Given the description of an element on the screen output the (x, y) to click on. 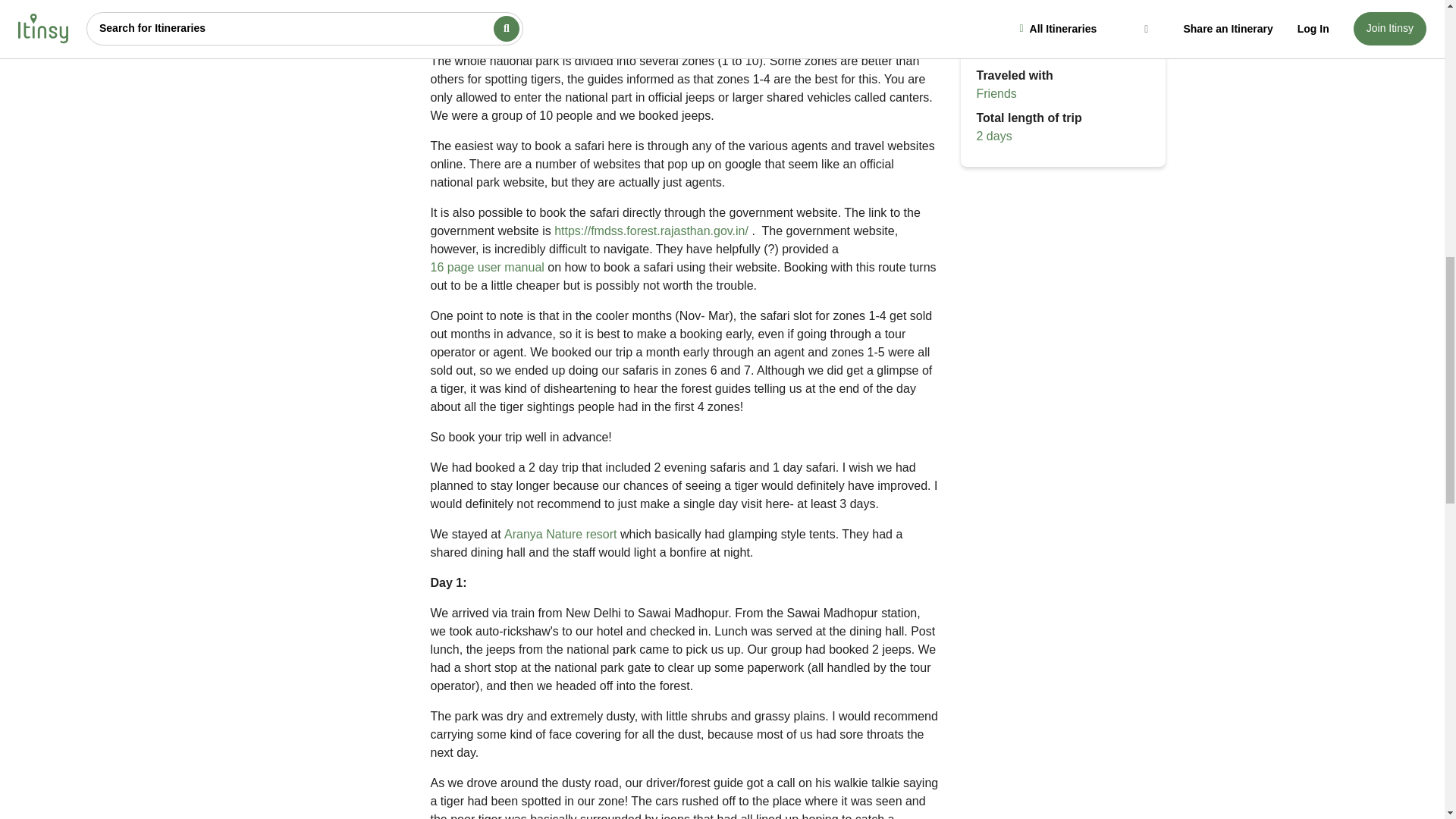
Aranya Nature resort (560, 534)
16 page user manual (487, 267)
